Given the description of an element on the screen output the (x, y) to click on. 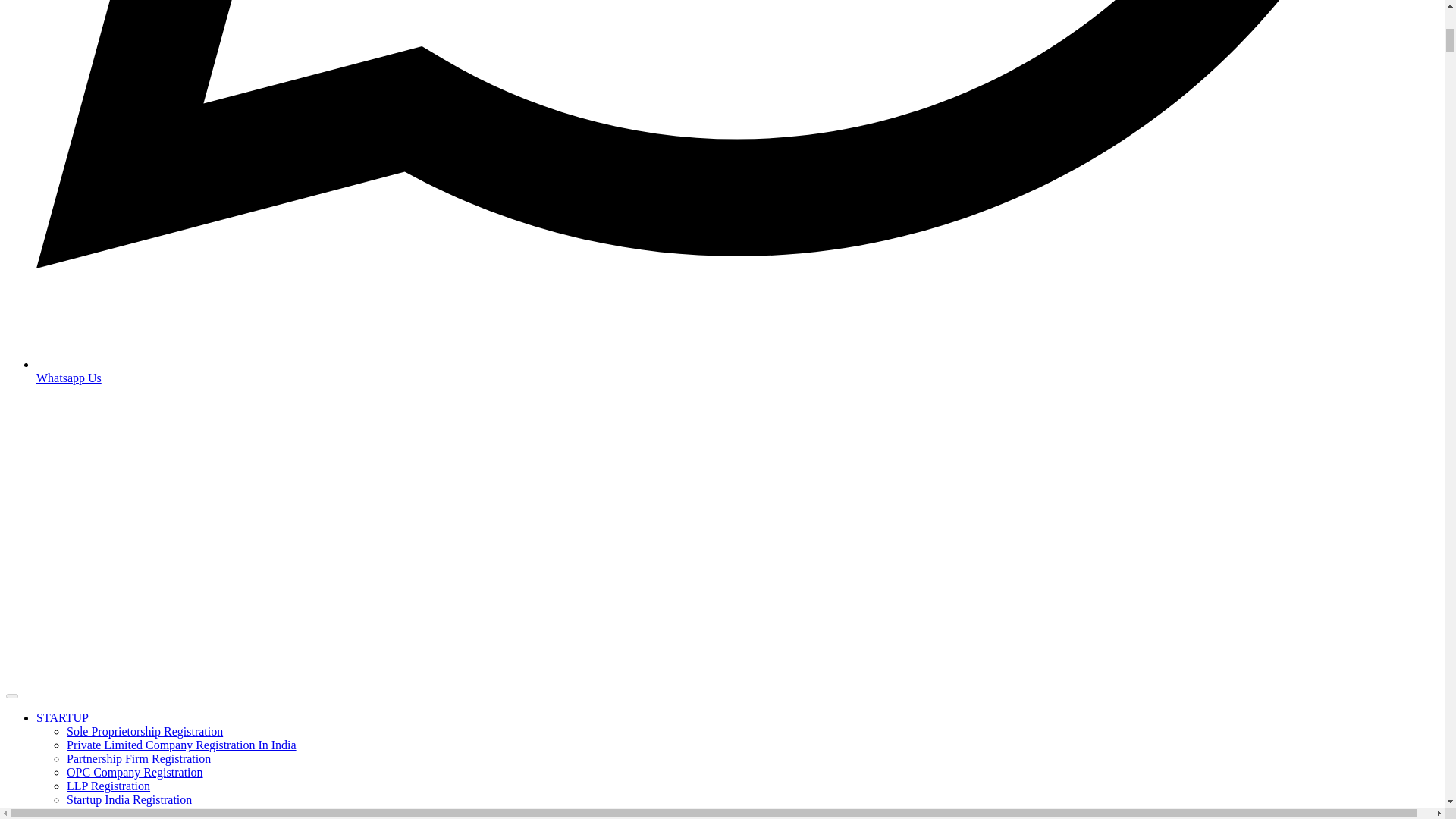
STARTUP (62, 717)
Sole Proprietorship Registration (144, 730)
LLP Registration (107, 785)
Startup India Registration (129, 799)
Partnership Firm Registration (138, 758)
Private Limited Company Registration In India (181, 744)
Whatsapp Us (737, 370)
OPC Company Registration (134, 771)
MSME Registration (115, 812)
